Given the description of an element on the screen output the (x, y) to click on. 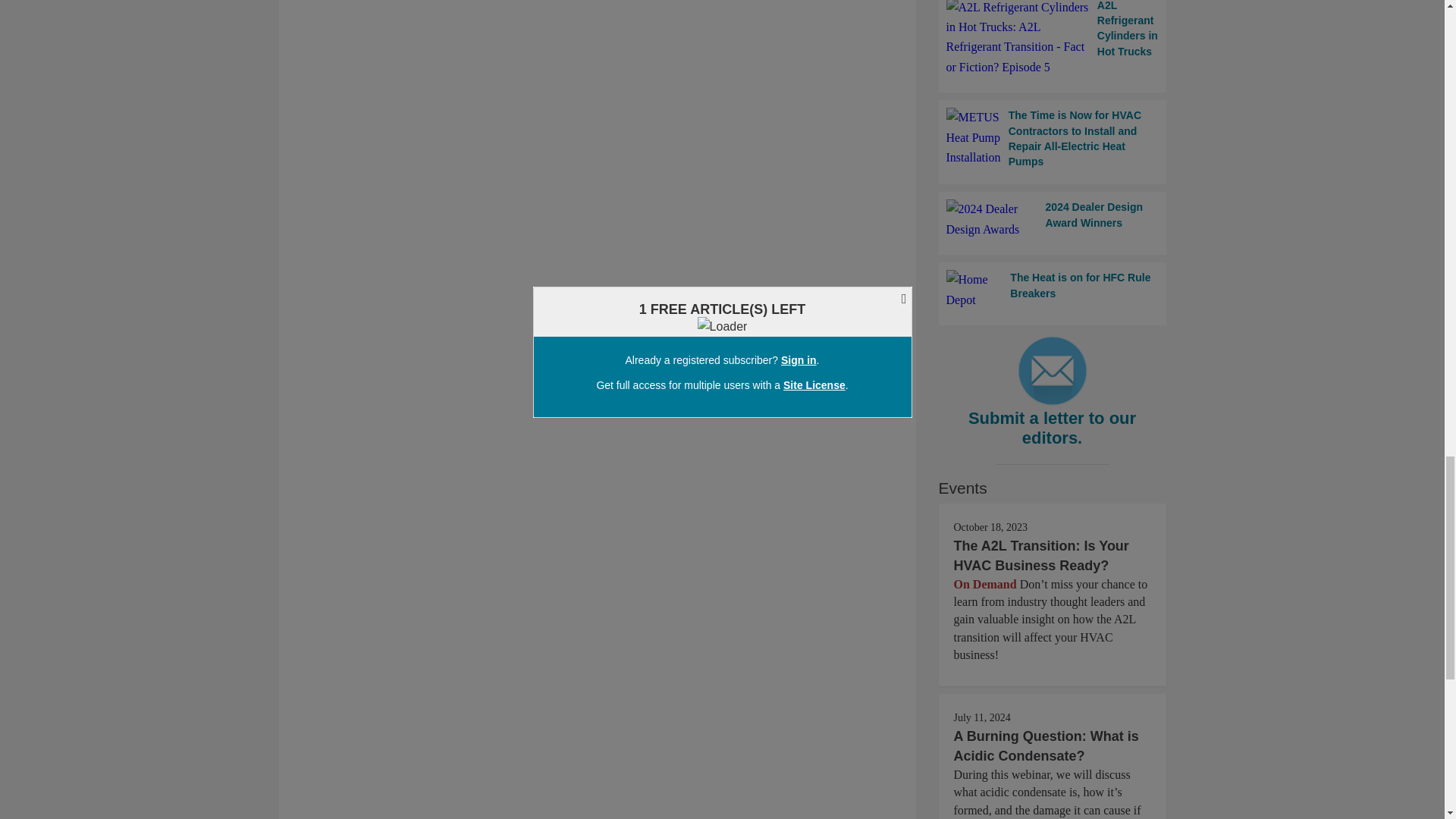
A2L Refrigerant Cylinders in Hot Trucks (1052, 38)
The A2L Transition: Is Your HVAC Business Ready? (1041, 555)
A Burning Question: What is Acidic Condensate? (1045, 745)
2024 Dealer Design Award Winners (1052, 219)
The Heat is on for HFC Rule Breakers (1052, 290)
